Given the description of an element on the screen output the (x, y) to click on. 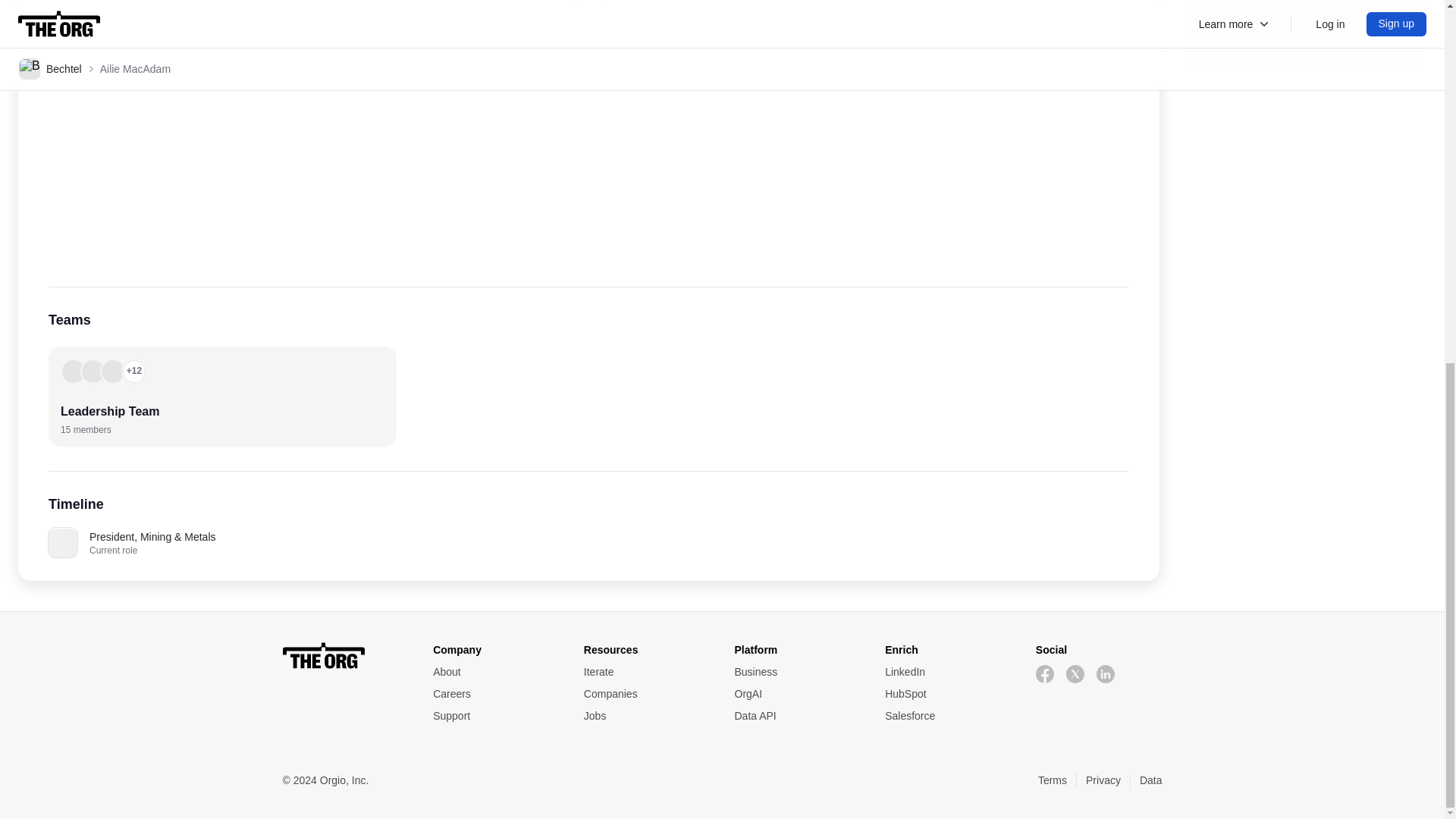
LinkedIn (948, 672)
About (495, 672)
OrgAI (796, 693)
About (495, 672)
Jobs (646, 715)
OrgAI (796, 693)
HubSpot (948, 693)
Support (495, 715)
Salesforce (948, 715)
HubSpot (948, 693)
